Given the description of an element on the screen output the (x, y) to click on. 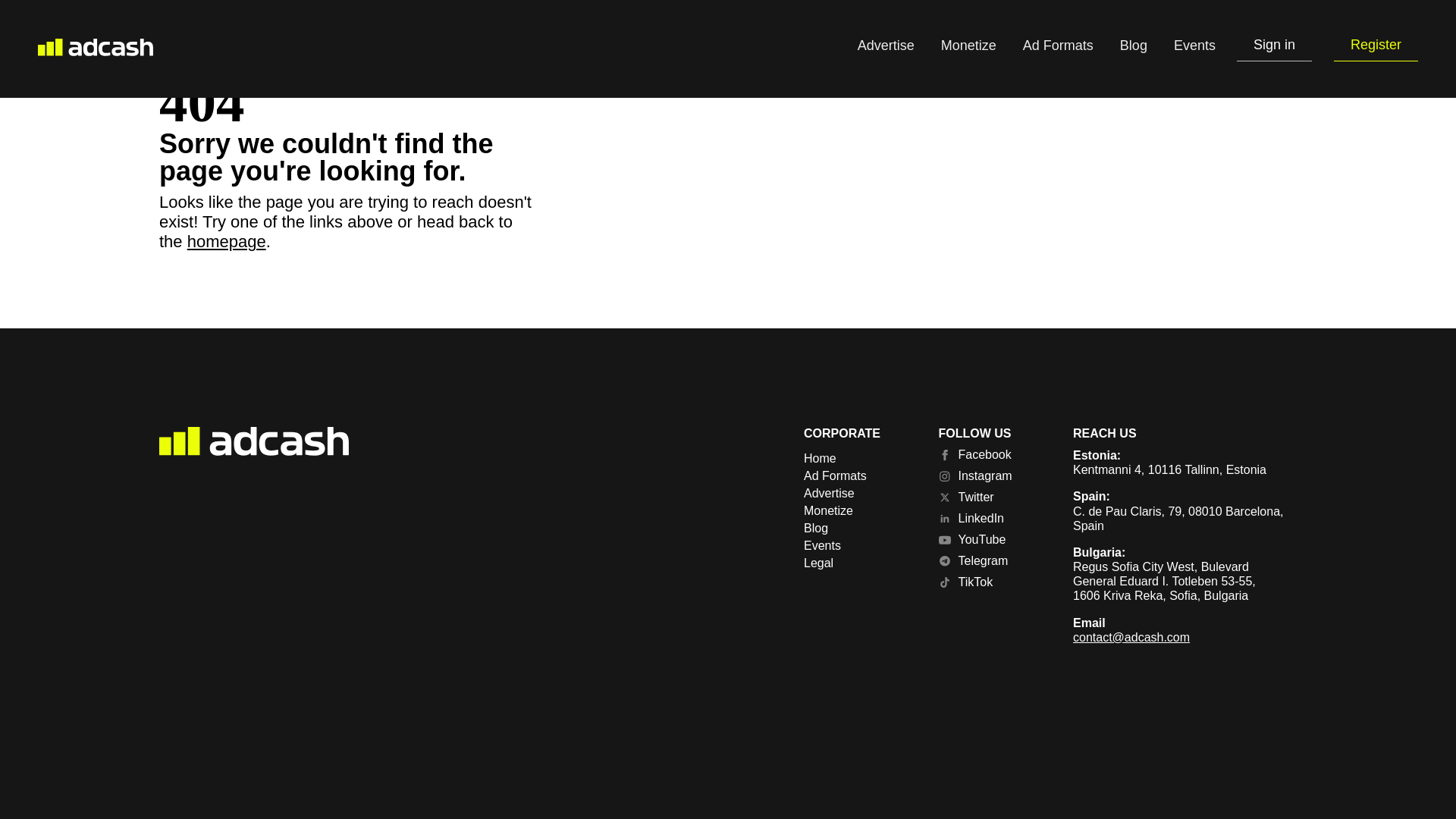
Advertise (859, 493)
Legal (859, 563)
Instagram (995, 476)
LinkedIn (995, 518)
Facebook (995, 454)
YouTube (995, 540)
Home (859, 459)
Ad Formats (1058, 48)
Blog (859, 528)
Monetize (967, 48)
